Given the description of an element on the screen output the (x, y) to click on. 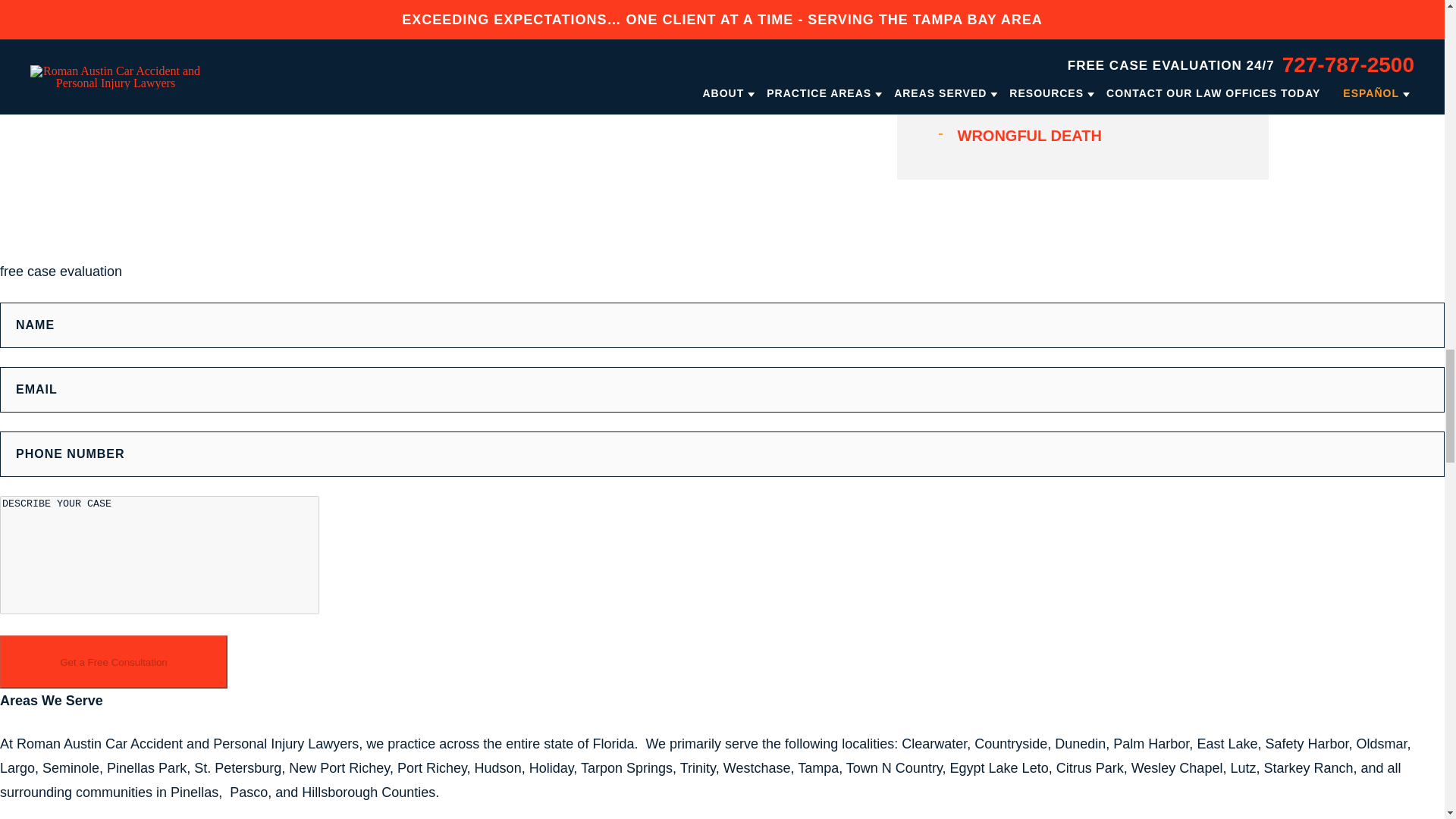
Get a Free Consultation (113, 661)
